Given the description of an element on the screen output the (x, y) to click on. 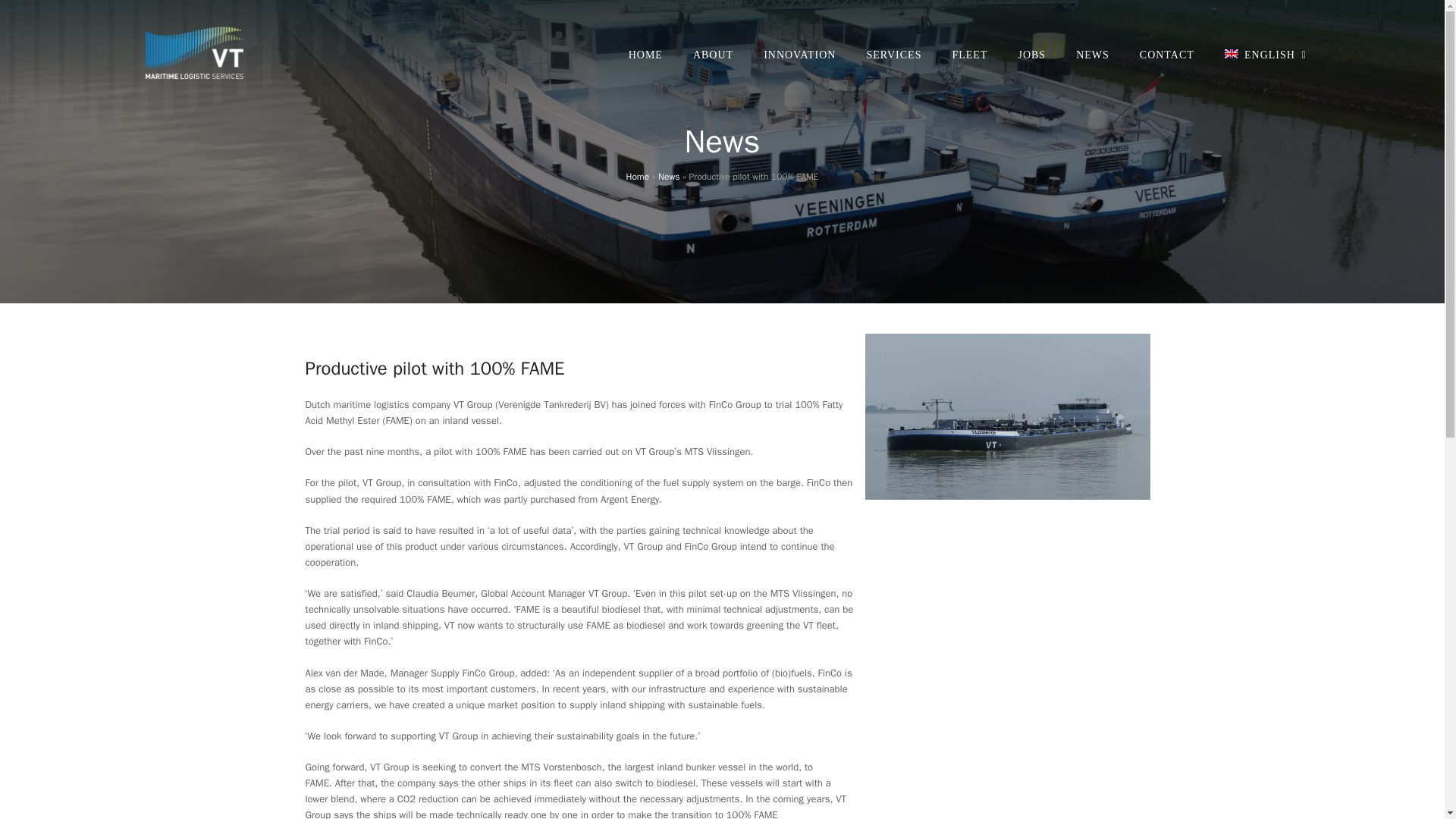
FLEET (969, 55)
ENGLISH (1265, 55)
CONTACT (1166, 55)
ABOUT (713, 55)
English (1265, 55)
News (668, 176)
INNOVATION (798, 55)
SERVICES (893, 55)
Home (637, 176)
HOME (645, 55)
